Given the description of an element on the screen output the (x, y) to click on. 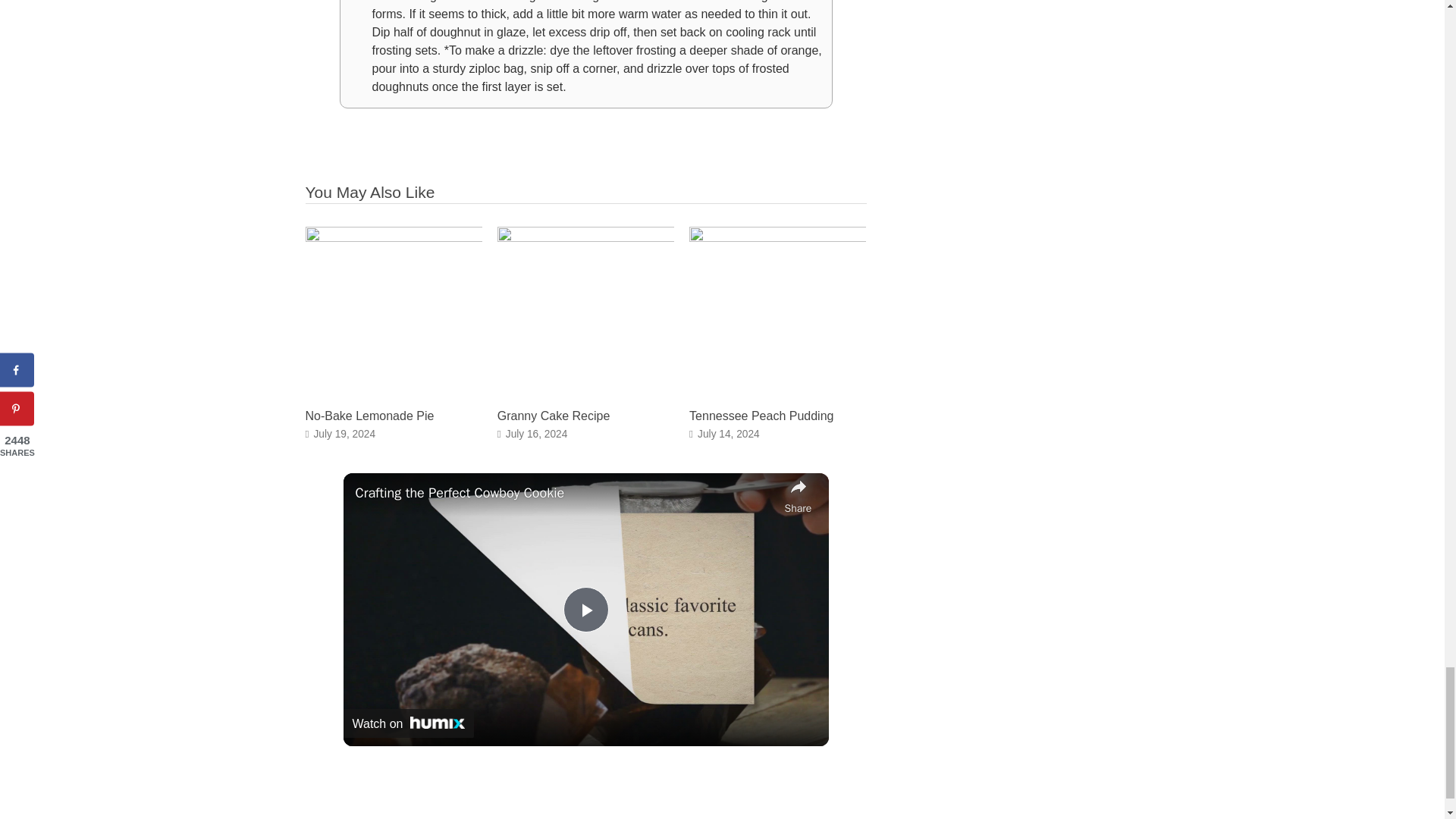
Granny Cake Recipe (553, 415)
No-Bake Lemonade Pie (368, 415)
No-Bake Lemonade Pie (392, 237)
Play Video (585, 609)
Granny Cake Recipe (585, 237)
Tennessee Peach Pudding (777, 237)
Tennessee Peach Pudding (760, 415)
